Given the description of an element on the screen output the (x, y) to click on. 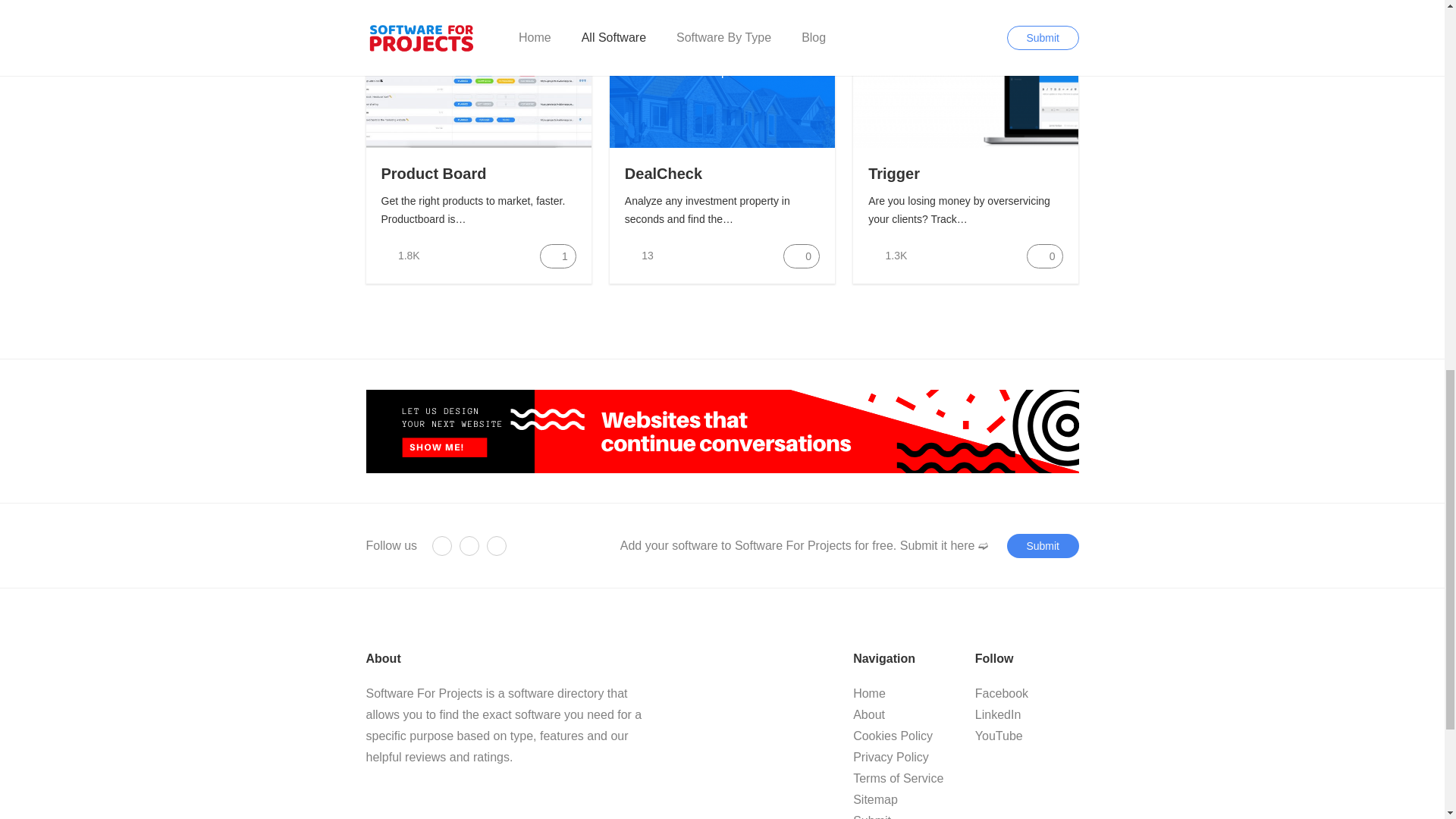
Upvote (558, 256)
0 (1044, 256)
Terms of Service (898, 778)
YouTube (999, 735)
Facebook (1001, 693)
Home (869, 693)
LinkedIn (998, 714)
YouTube (496, 546)
Views (399, 255)
Facebook (441, 546)
Cookies Policy (893, 735)
Submit (1042, 545)
About (869, 714)
1 (558, 256)
0 (801, 256)
